Given the description of an element on the screen output the (x, y) to click on. 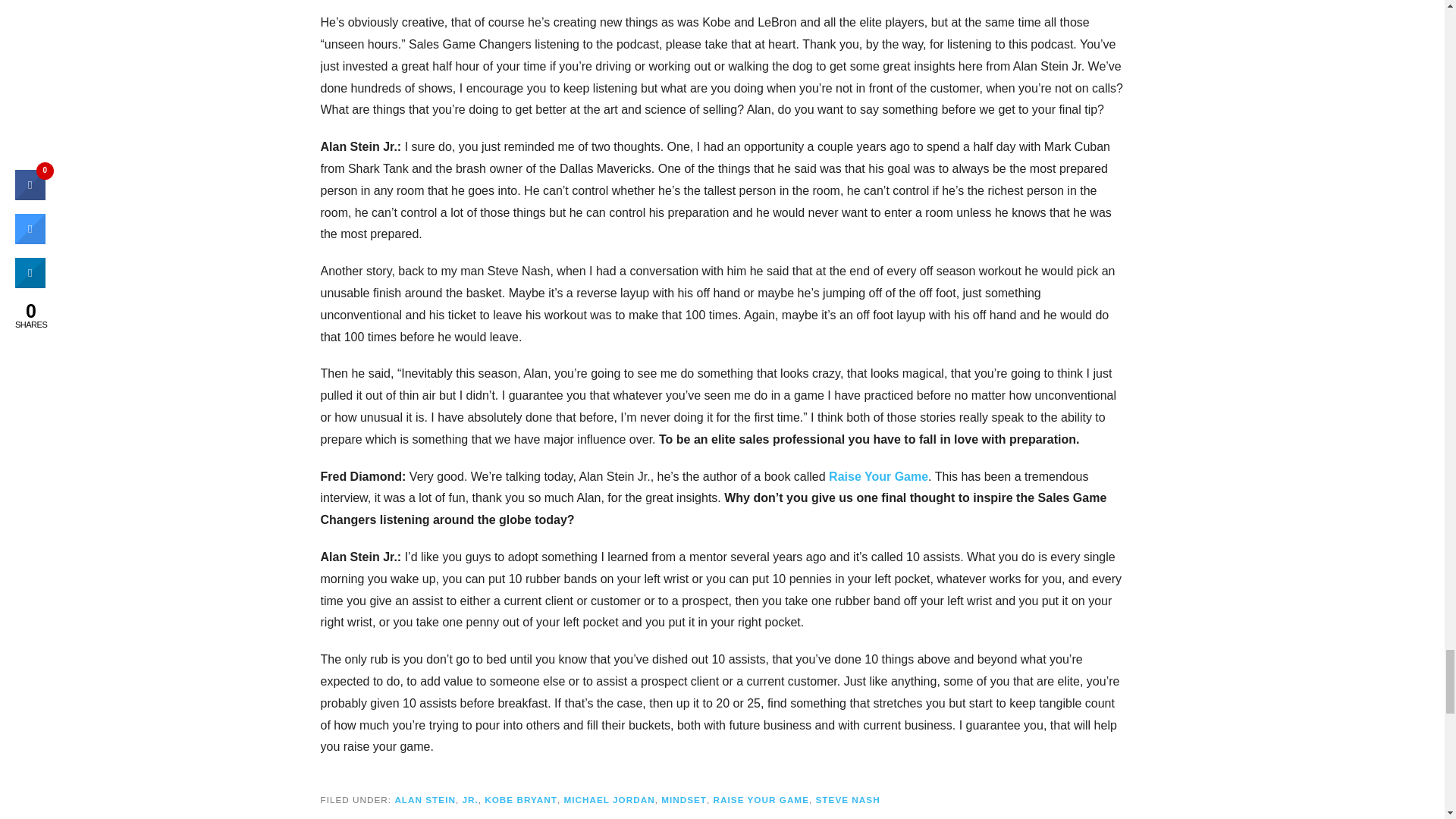
MICHAEL JORDAN (608, 799)
MINDSET (683, 799)
JR. (469, 799)
Raise Your Game (878, 476)
STEVE NASH (847, 799)
ALAN STEIN (424, 799)
RAISE YOUR GAME (761, 799)
KOBE BRYANT (520, 799)
